Given the description of an element on the screen output the (x, y) to click on. 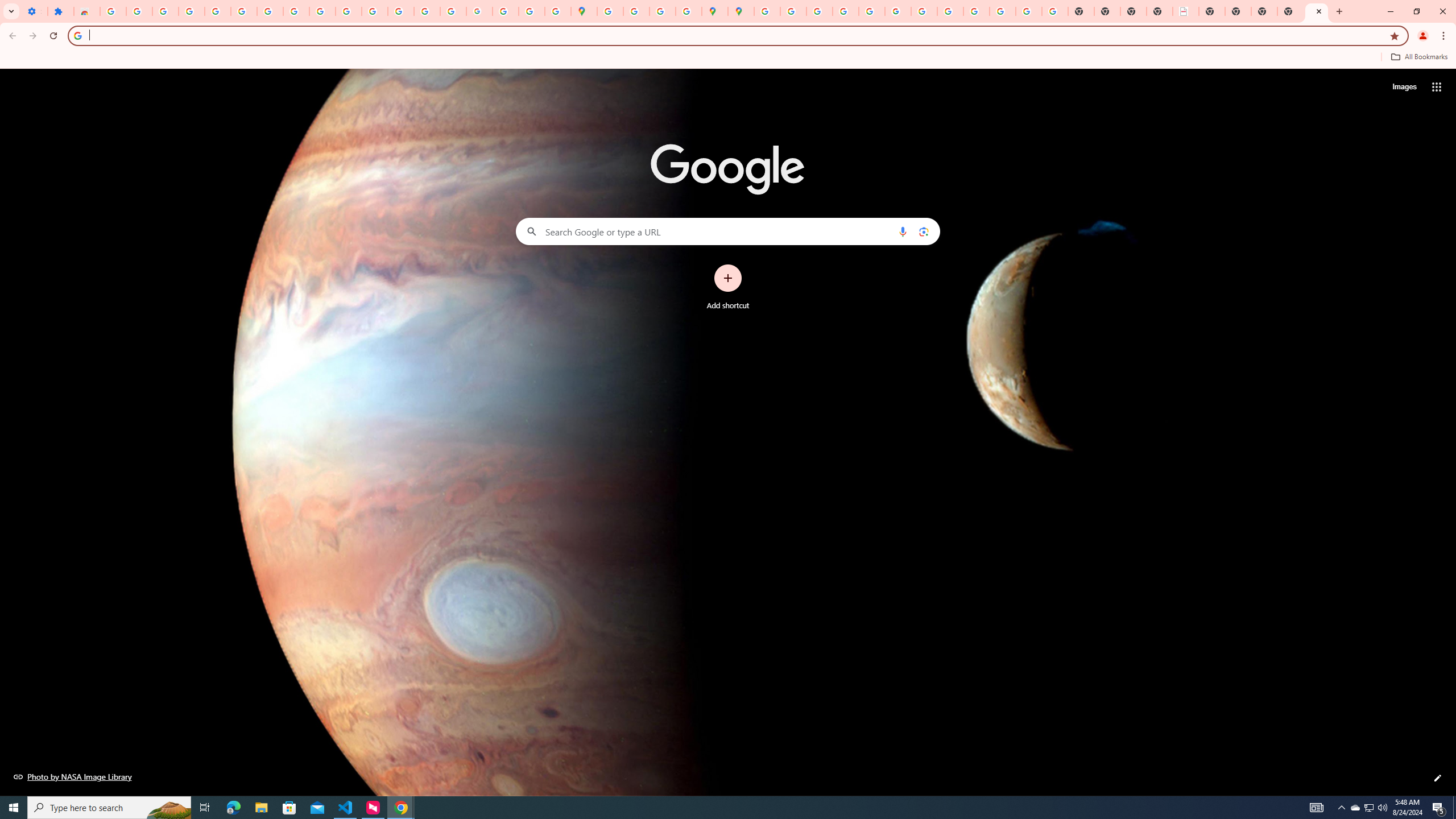
Search Google or type a URL (727, 230)
New Tab (1316, 11)
Privacy Help Center - Policies Help (845, 11)
Google Maps (584, 11)
New Tab (1290, 11)
